Given the description of an element on the screen output the (x, y) to click on. 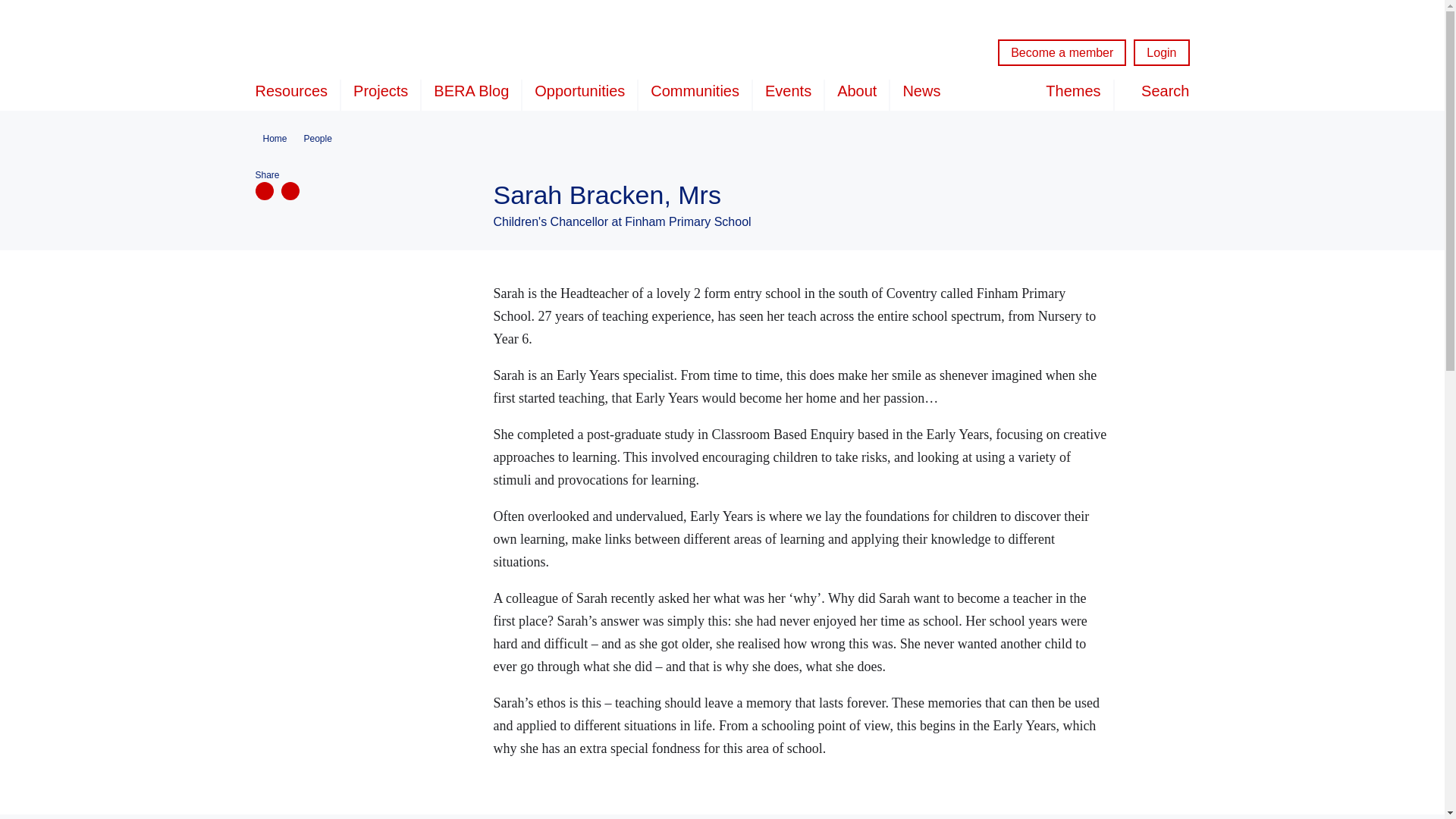
Opportunities (579, 94)
Login (1161, 52)
Communities (695, 94)
Share on Facebook (263, 190)
Become a member (1061, 52)
BERA Blog (471, 94)
Events (788, 94)
Share on Twitter (289, 190)
Projects (380, 94)
Resources (296, 94)
